Given the description of an element on the screen output the (x, y) to click on. 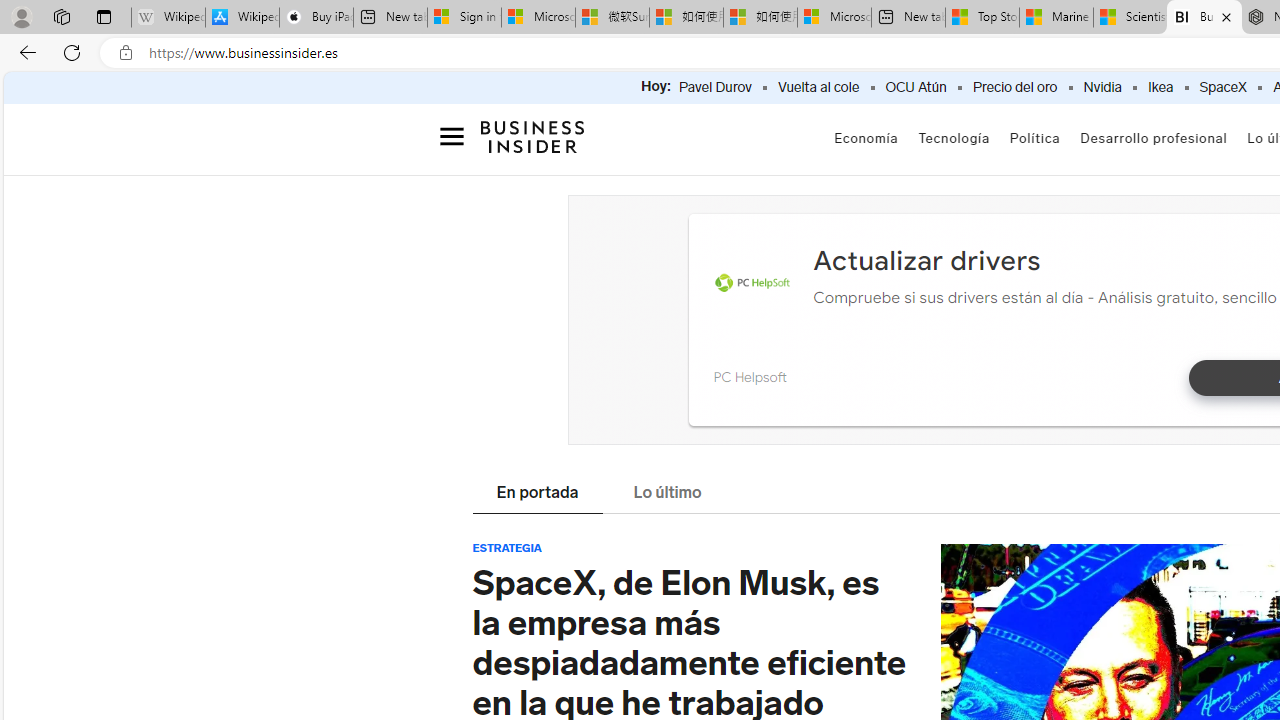
Desarrollo profesional (1153, 138)
SpaceX (1222, 88)
Desarrollo profesional (1153, 139)
Vuelta al cole (818, 88)
SpaceX (1222, 88)
Marine life - MSN (1056, 17)
Ikea (1160, 88)
Pavel Durov (715, 88)
Wikipedia - Sleeping (167, 17)
Actualizar drivers (925, 260)
